Given the description of an element on the screen output the (x, y) to click on. 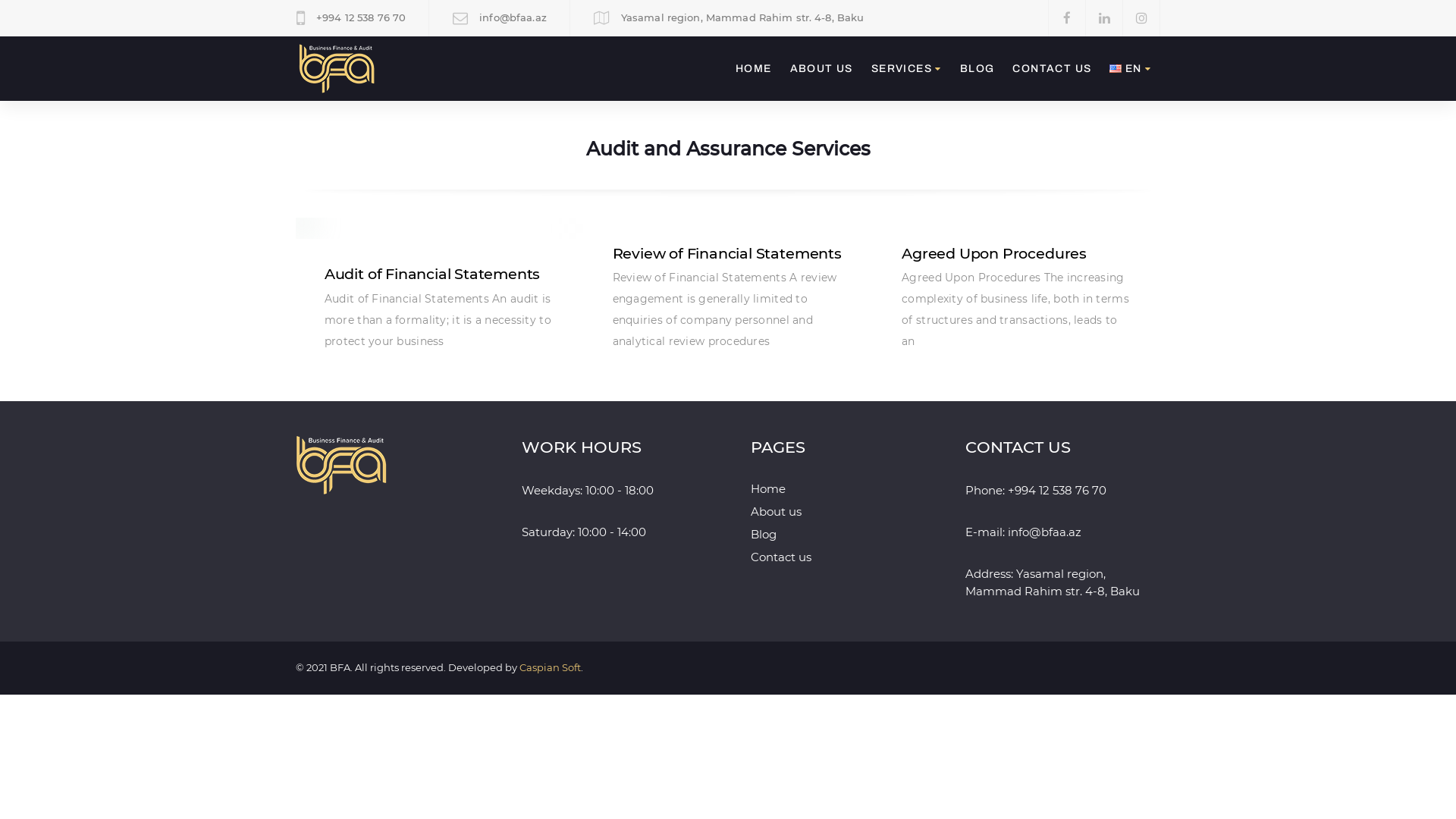
+994 12 538 76 70 Element type: text (1056, 490)
Home Element type: text (767, 488)
Agreed Upon Procedures Element type: text (993, 253)
SERVICES Element type: text (906, 68)
CONTACT US Element type: text (1051, 68)
Audit of Financial Statements Element type: text (431, 273)
EN Element type: text (1130, 68)
About us Element type: text (775, 511)
ABOUT US Element type: text (821, 68)
Contact us Element type: text (780, 556)
HOME Element type: text (753, 68)
Blog Element type: text (763, 534)
Review of Financial Statements Element type: text (726, 253)
Caspian Soft Element type: text (549, 667)
info@bfaa.az Element type: text (1043, 531)
BLOG Element type: text (977, 68)
